Given the description of an element on the screen output the (x, y) to click on. 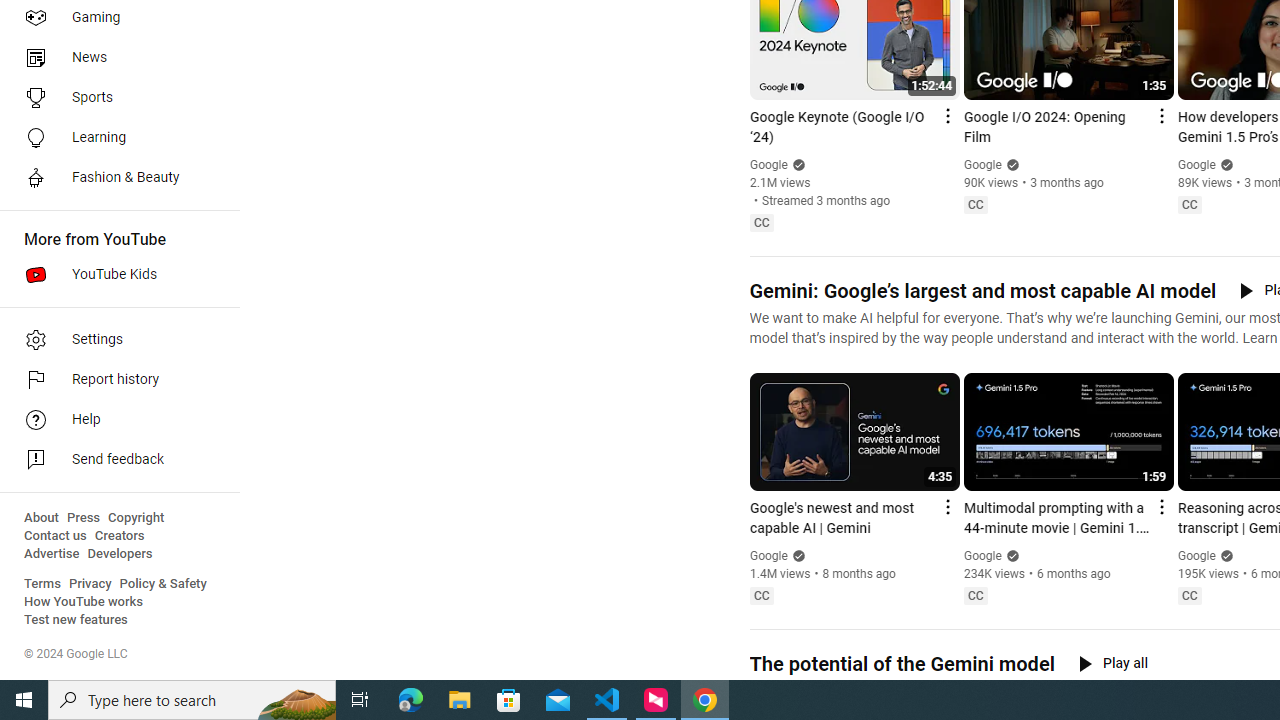
Contact us (55, 536)
News (113, 57)
YouTube Kids (113, 274)
Copyright (136, 518)
Send feedback (113, 459)
Learning (113, 137)
Closed captions (1189, 595)
How YouTube works (83, 602)
Report history (113, 380)
